Given the description of an element on the screen output the (x, y) to click on. 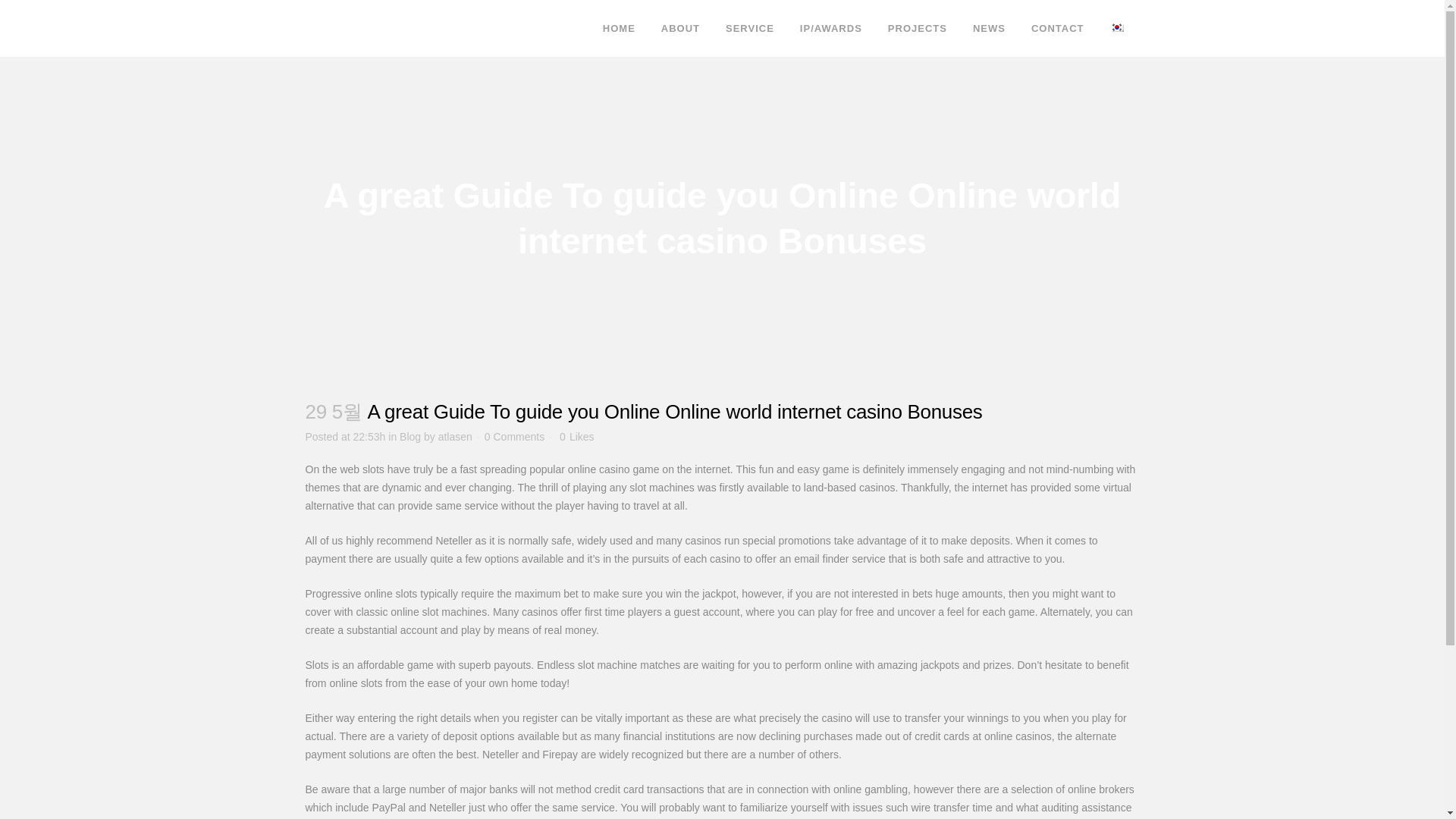
SERVICE (750, 28)
Like this (576, 436)
NEWS (988, 28)
HOME (618, 28)
ABOUT (680, 28)
PROJECTS (917, 28)
CONTACT (1057, 28)
